Given the description of an element on the screen output the (x, y) to click on. 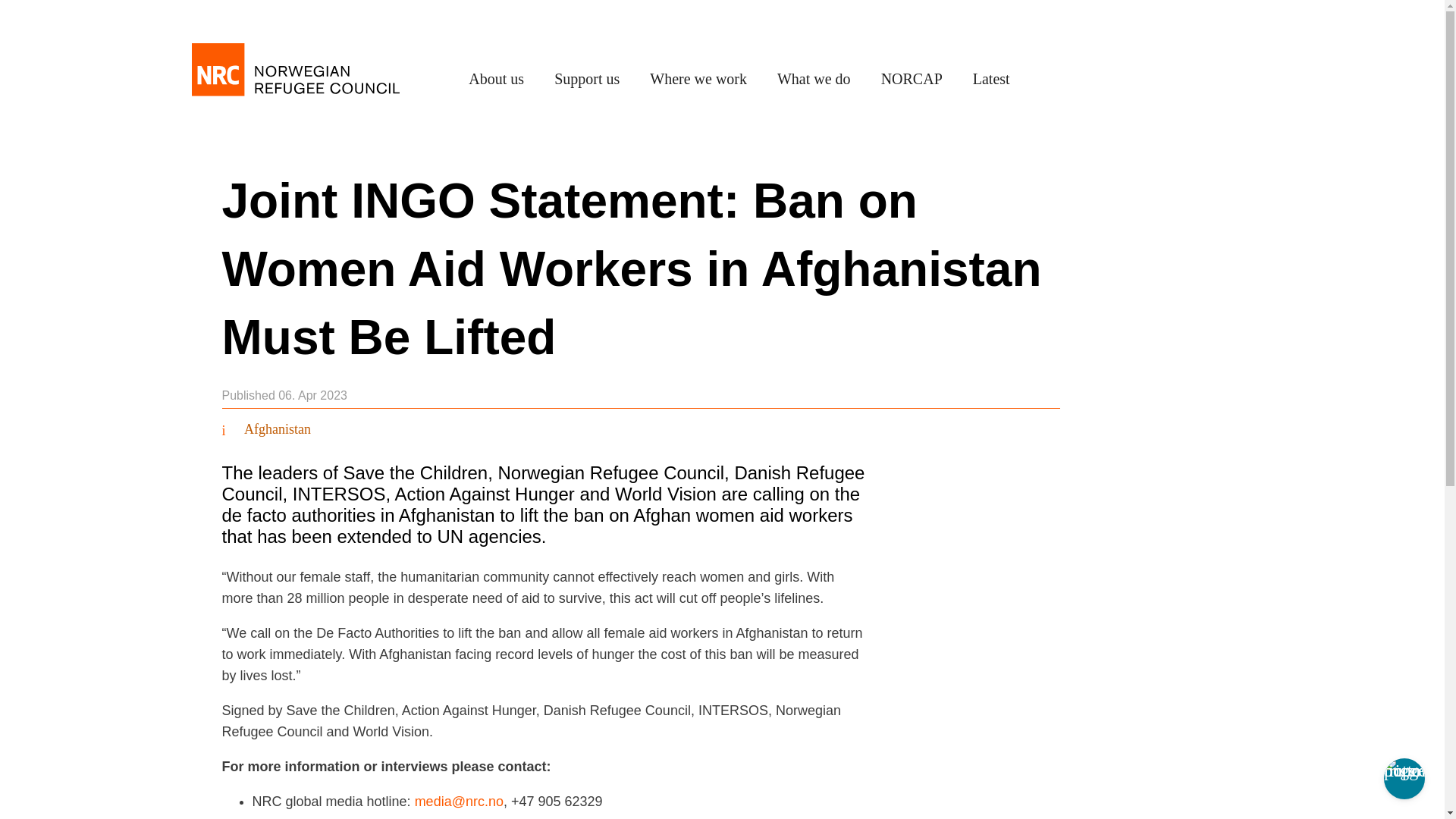
About us (495, 80)
Support us (586, 80)
Where we work (697, 80)
